Given the description of an element on the screen output the (x, y) to click on. 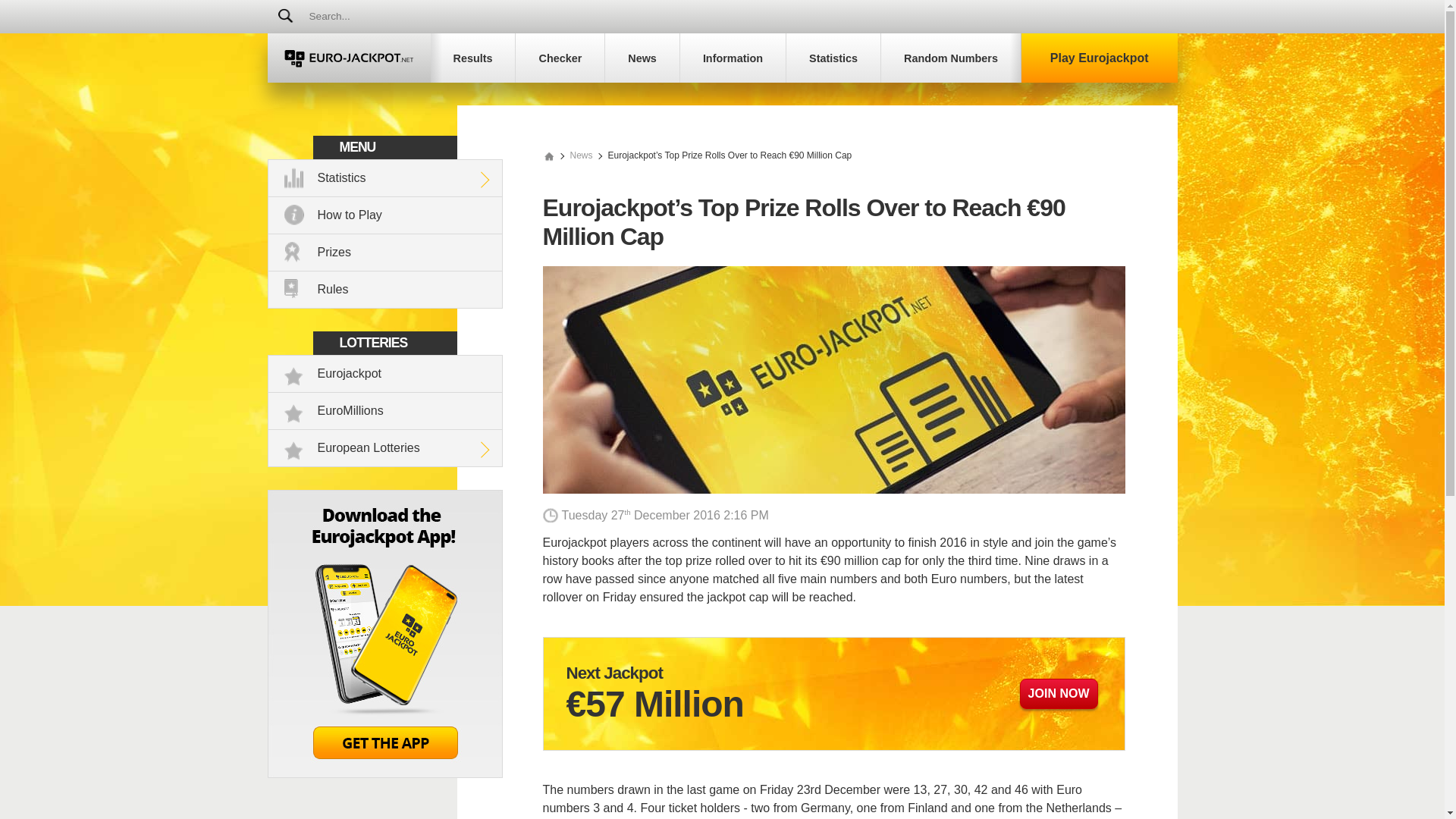
European Lotteries (384, 447)
Statistics (384, 178)
Prizes (384, 252)
Results (473, 57)
JOIN NOW (1058, 693)
EuroMillions (384, 411)
Pagina non disponibile in italiano (676, 16)
Ova stranica trenutno nije dostupna na hrvatskom jeziku (858, 16)
Play Eurojackpot (1099, 57)
Eurojackpot (384, 374)
